Given the description of an element on the screen output the (x, y) to click on. 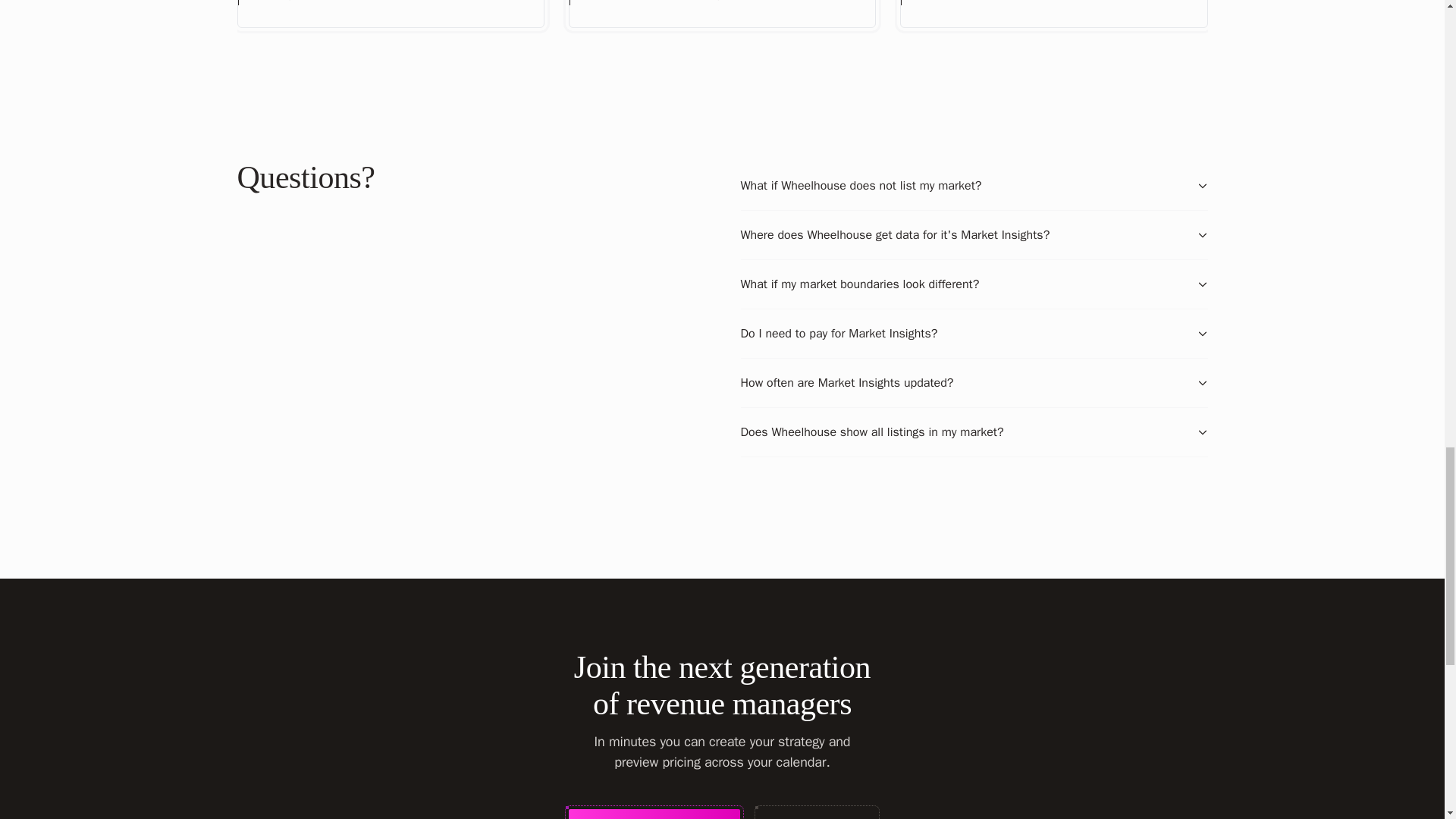
What if my market boundaries look different? (973, 284)
Book a demo (817, 814)
Try Wheelhouse for free (654, 814)
Does Wheelhouse show all listings in my market? (973, 431)
Where does Wheelhouse get data for it's Market Insights? (973, 234)
What if Wheelhouse does not list my market? (973, 185)
Do I need to pay for Market Insights? (973, 333)
How often are Market Insights updated? (973, 382)
